Given the description of an element on the screen output the (x, y) to click on. 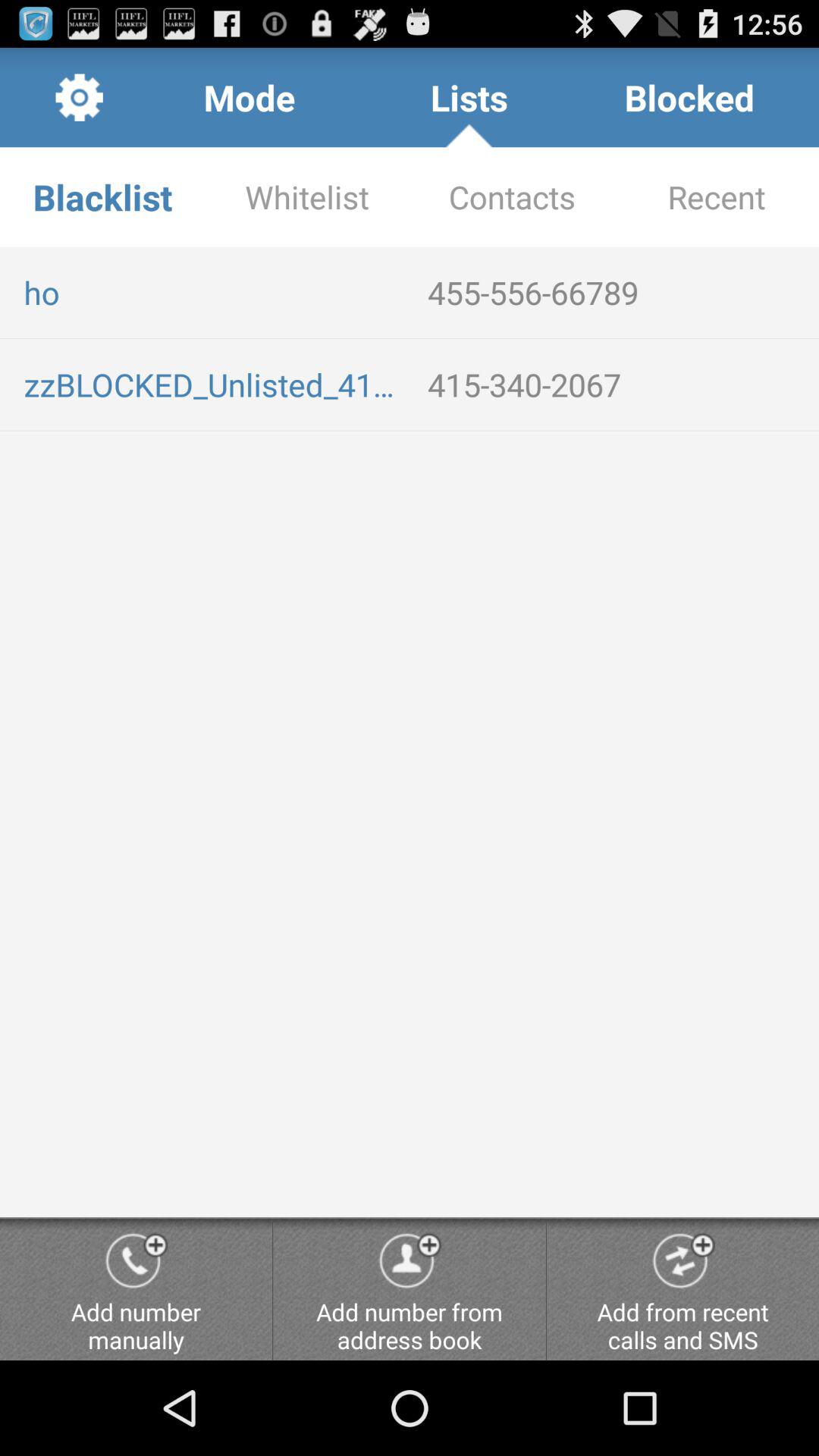
open the blacklist item (102, 196)
